Given the description of an element on the screen output the (x, y) to click on. 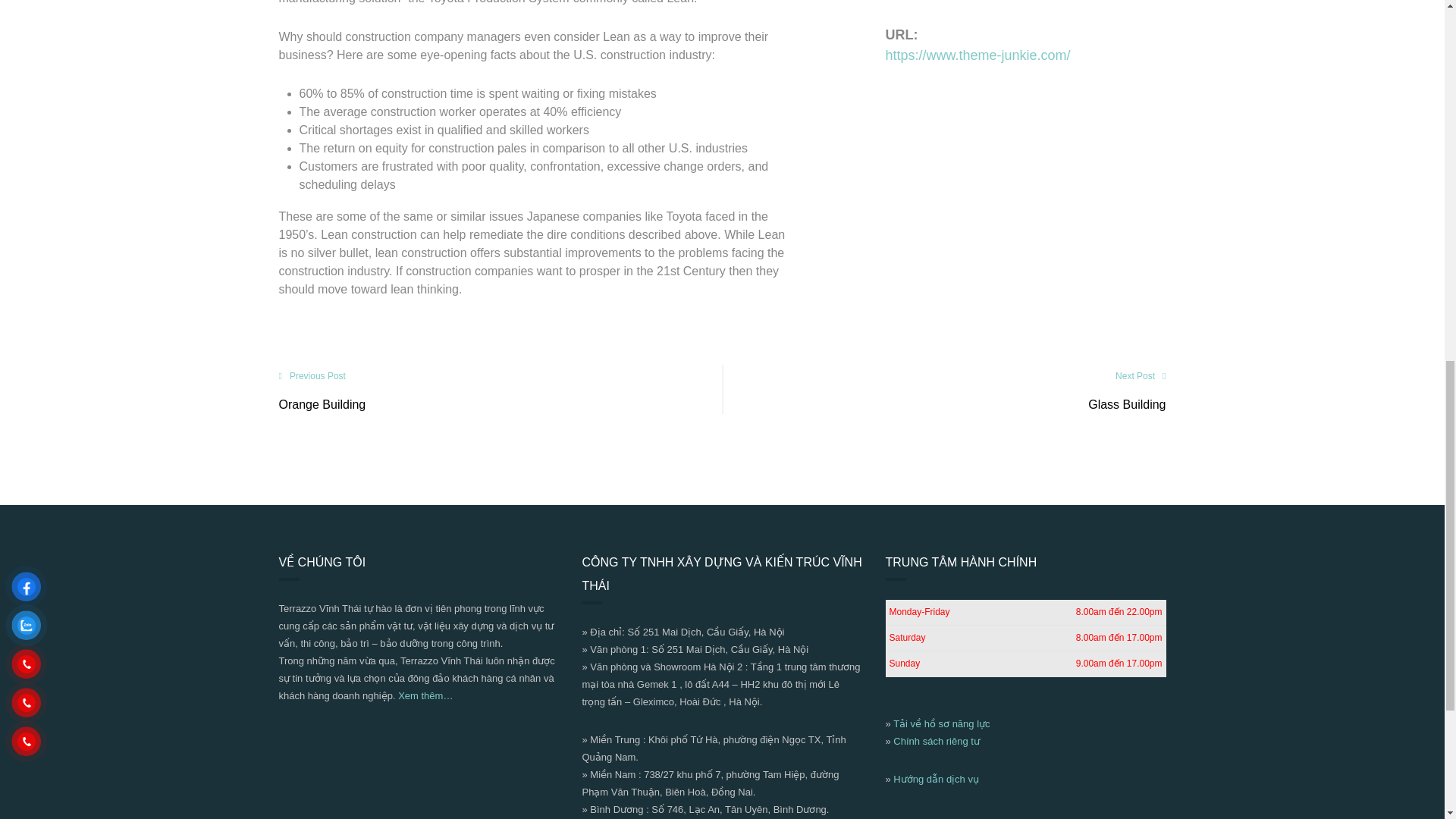
Privacy Policy (936, 740)
